Given the description of an element on the screen output the (x, y) to click on. 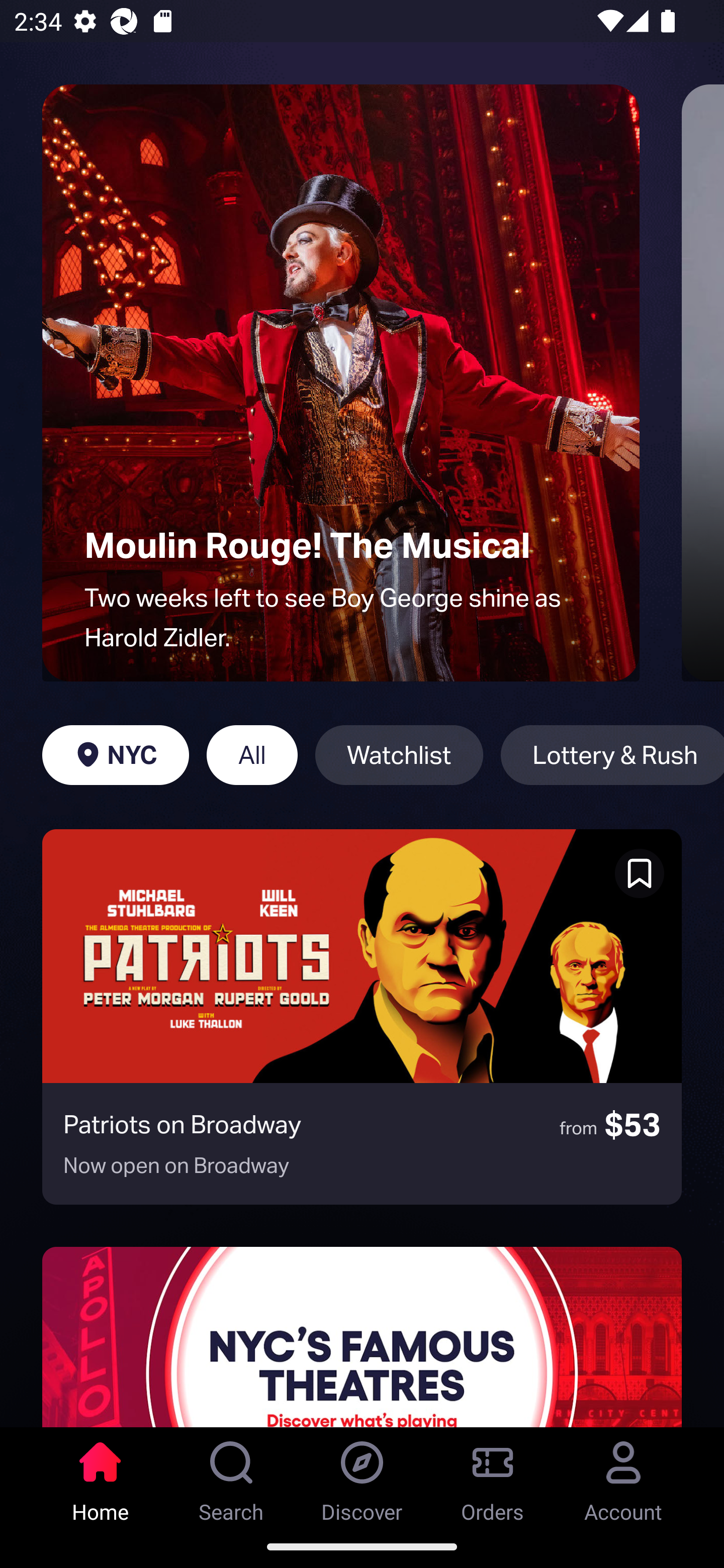
NYC (114, 754)
All (251, 754)
Watchlist (398, 754)
Lottery & Rush (612, 754)
Patriots on Broadway from $53 Now open on Broadway (361, 1016)
Search (230, 1475)
Discover (361, 1475)
Orders (492, 1475)
Account (623, 1475)
